Given the description of an element on the screen output the (x, y) to click on. 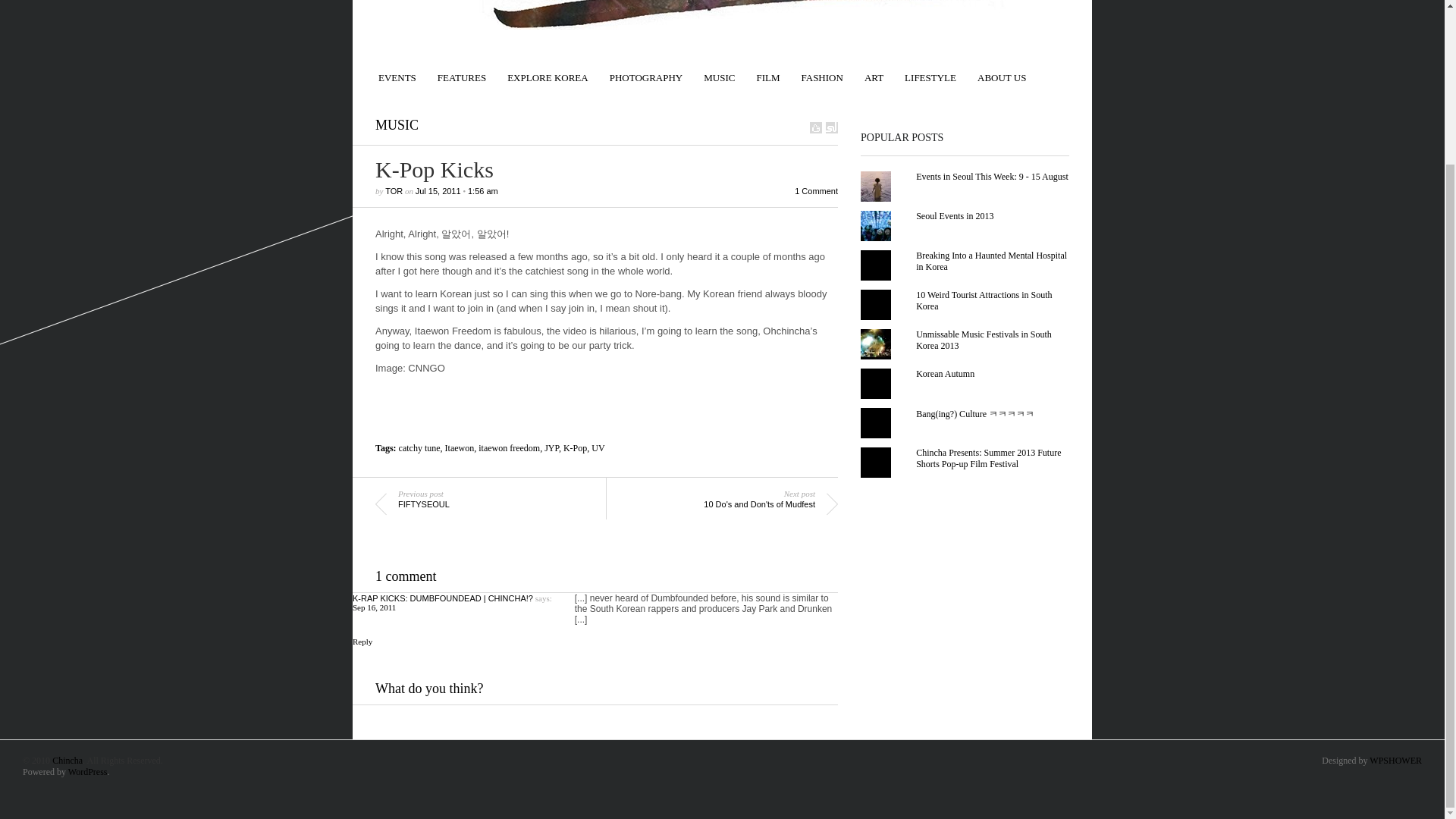
1 Comment (816, 190)
PHOTOGRAPHY (646, 71)
View all posts in Music (397, 124)
itaewon freedom (509, 448)
EVENTS (397, 71)
catchy tune (419, 448)
Itaewon (459, 448)
MUSIC (718, 71)
Events This Week (397, 71)
LIFESTYLE (930, 71)
EXPLORE KOREA (547, 71)
Korean Music (718, 71)
FASHION (821, 71)
Share on StumbleUpon (831, 127)
Our Photography (646, 71)
